Given the description of an element on the screen output the (x, y) to click on. 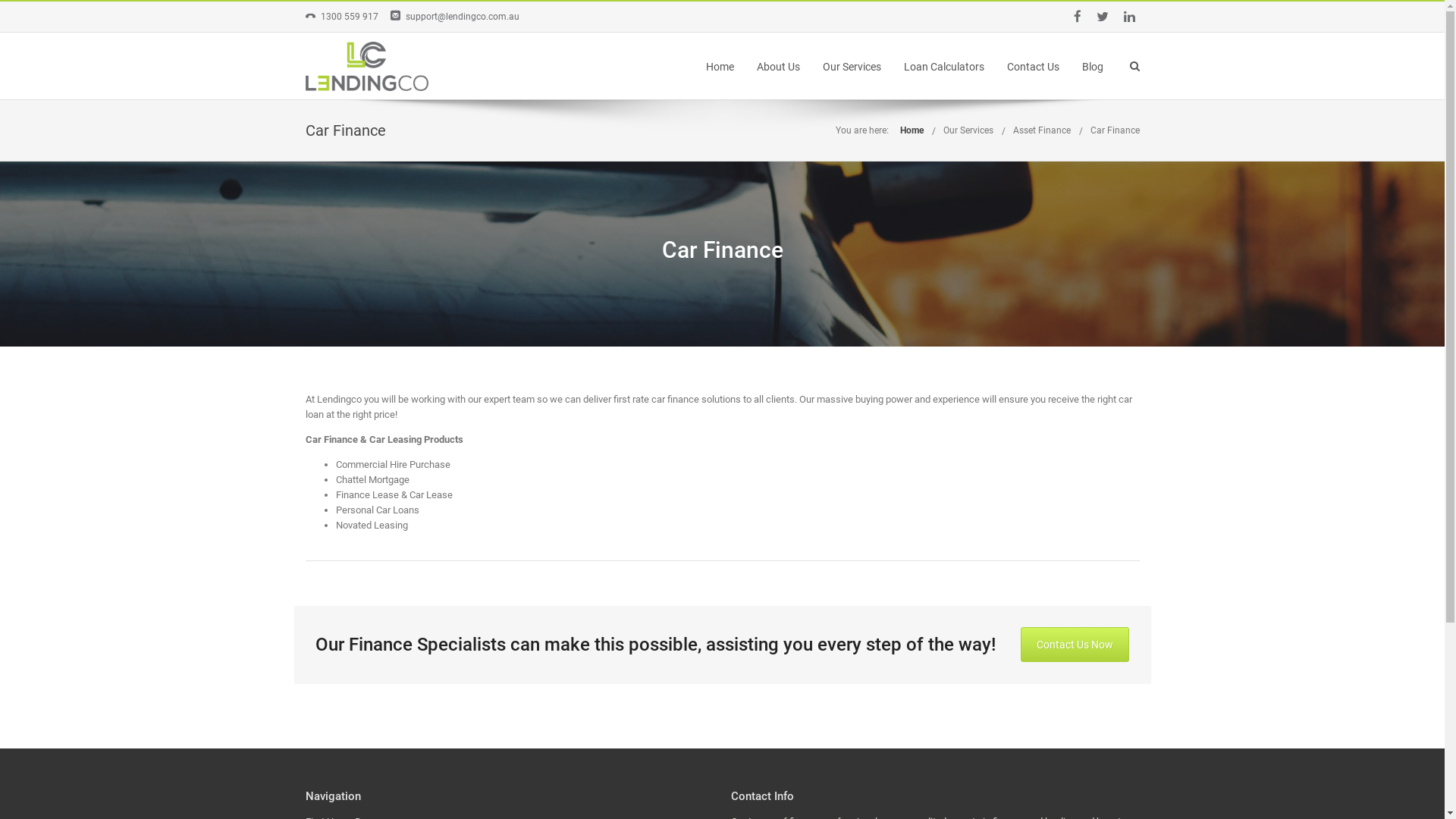
Car Finance Element type: text (1114, 130)
Contact Us Element type: text (1033, 66)
Our Services Element type: text (851, 66)
Blog Element type: text (1091, 66)
Loan Calculators Element type: text (943, 66)
Contact Us Now Element type: text (1074, 644)
Home Element type: text (719, 66)
Asset Finance Element type: text (1041, 130)
Home Element type: text (910, 130)
About Us Element type: text (778, 66)
Our Services Element type: text (968, 130)
